Given the description of an element on the screen output the (x, y) to click on. 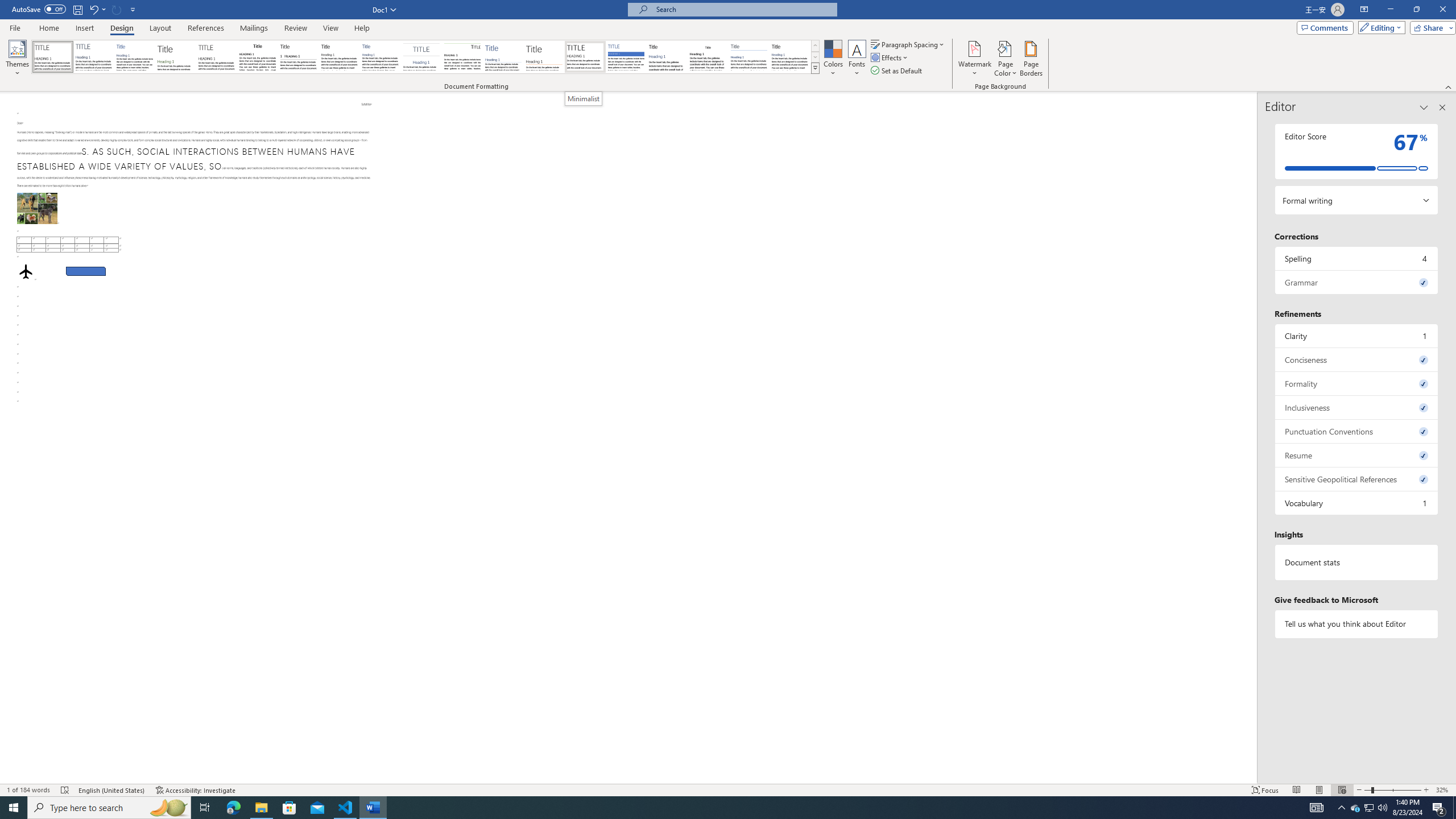
Spelling and Grammar Check Errors (65, 790)
Editor Score 67% (1356, 151)
Tell us what you think about Editor (1356, 624)
Colors (832, 58)
AutomationID: QuickStylesSets (425, 56)
Clarity, 1 issue. Press space or enter to review items. (1356, 335)
Conciseness, 0 issues. Press space or enter to review items. (1356, 359)
